Given the description of an element on the screen output the (x, y) to click on. 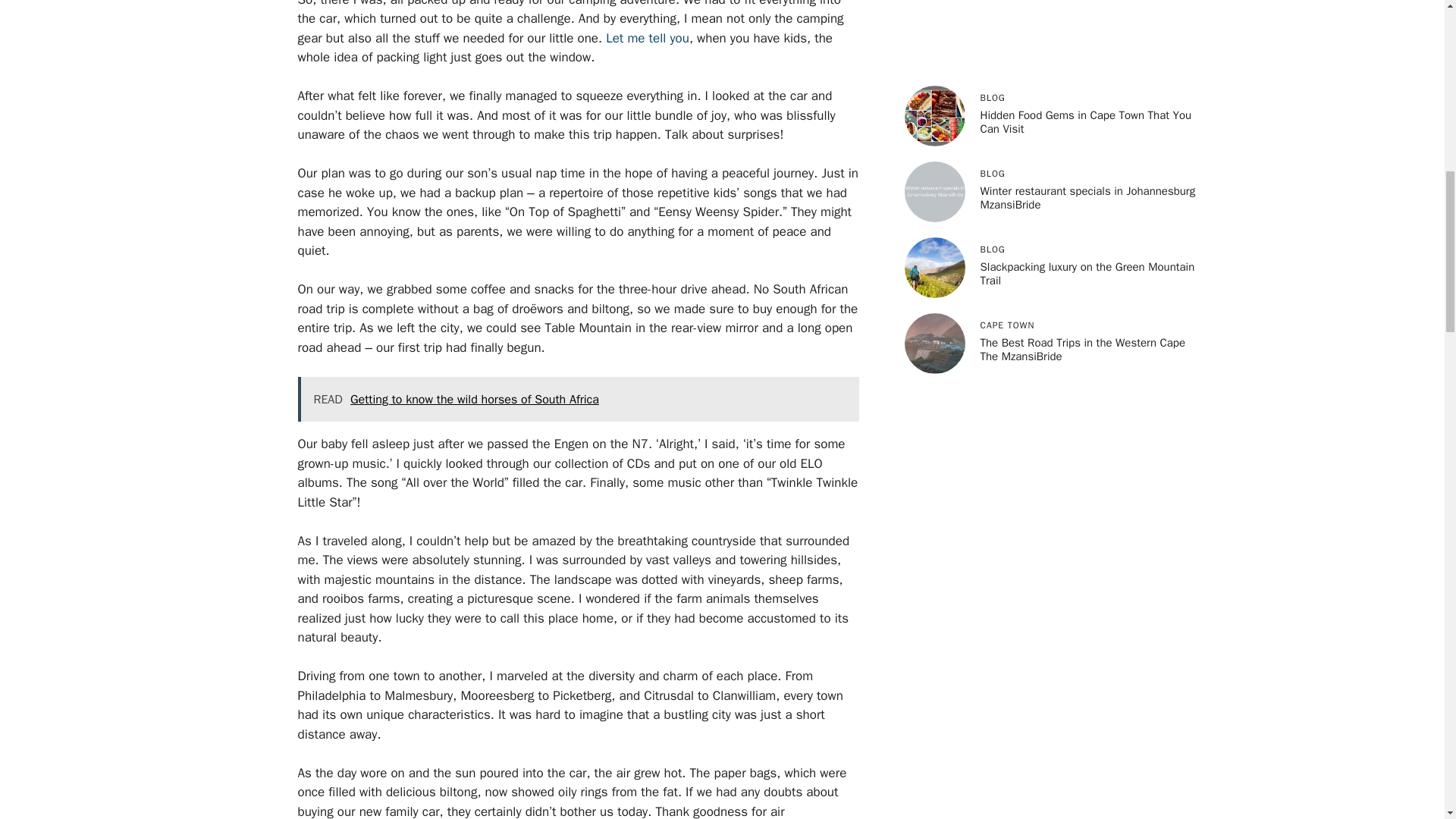
The Best Road Trips in the Western Cape The MzansiBride (1082, 349)
Winter restaurant specials in Johannesburg MzansiBride (1087, 197)
Hidden Food Gems in Cape Town That You Can Visit (1085, 121)
Advertisement (1051, 31)
Slackpacking luxury on the Green Mountain Trail (1086, 273)
READ  Getting to know the wild horses of South Africa (578, 399)
Let me tell you (646, 37)
